Given the description of an element on the screen output the (x, y) to click on. 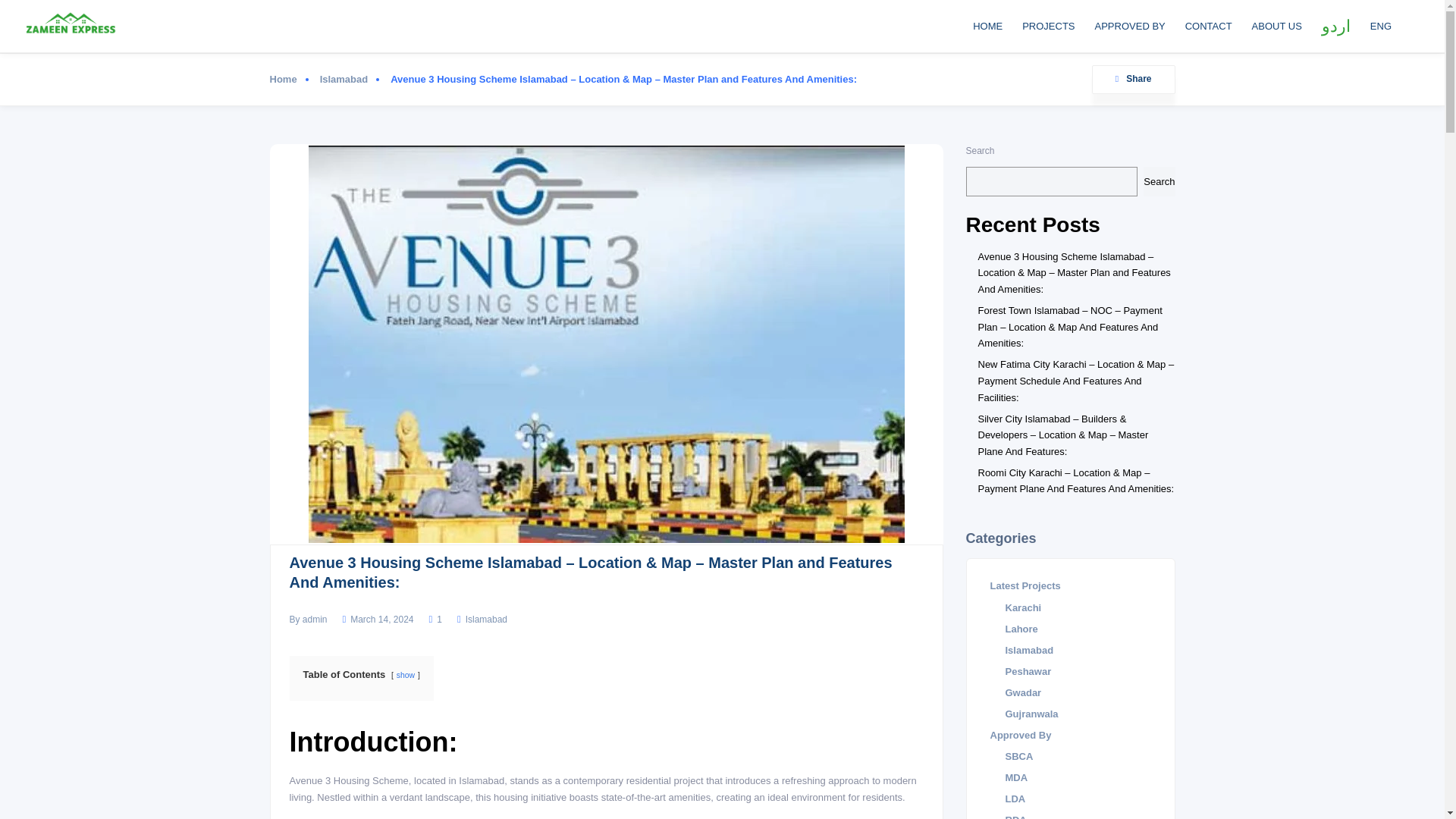
English (1380, 26)
Home (288, 79)
ENG (1380, 26)
PROJECTS (1047, 26)
Share (1133, 79)
Islamabad (485, 619)
CONTACT (1208, 26)
By admin (308, 618)
HOME (987, 26)
show (405, 674)
